Given the description of an element on the screen output the (x, y) to click on. 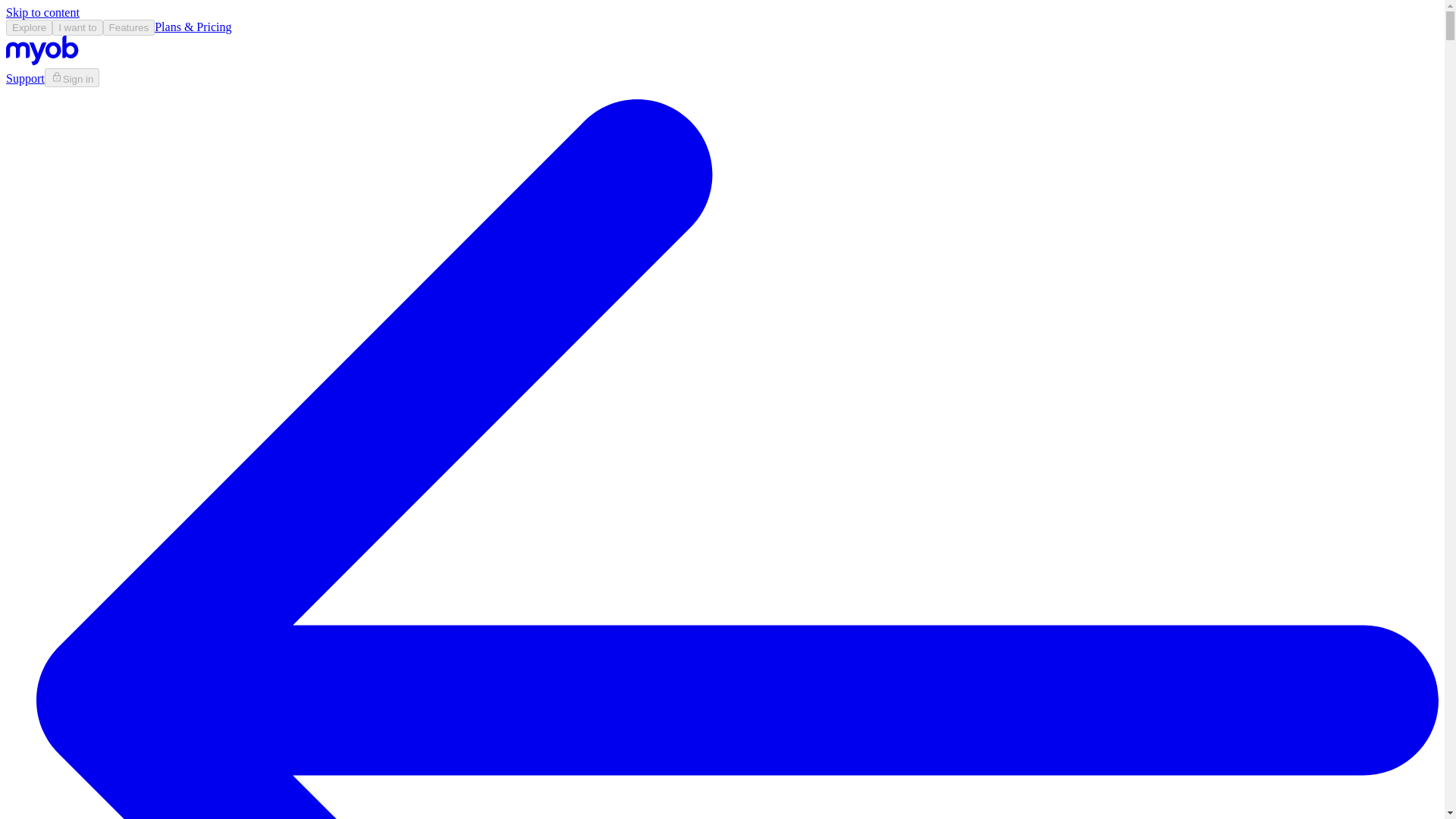
Features (129, 27)
Sign in (72, 76)
I want to (76, 27)
Explore (28, 27)
Support (25, 78)
Skip to content (42, 11)
MYOB (41, 60)
MYOB (41, 50)
